Given the description of an element on the screen output the (x, y) to click on. 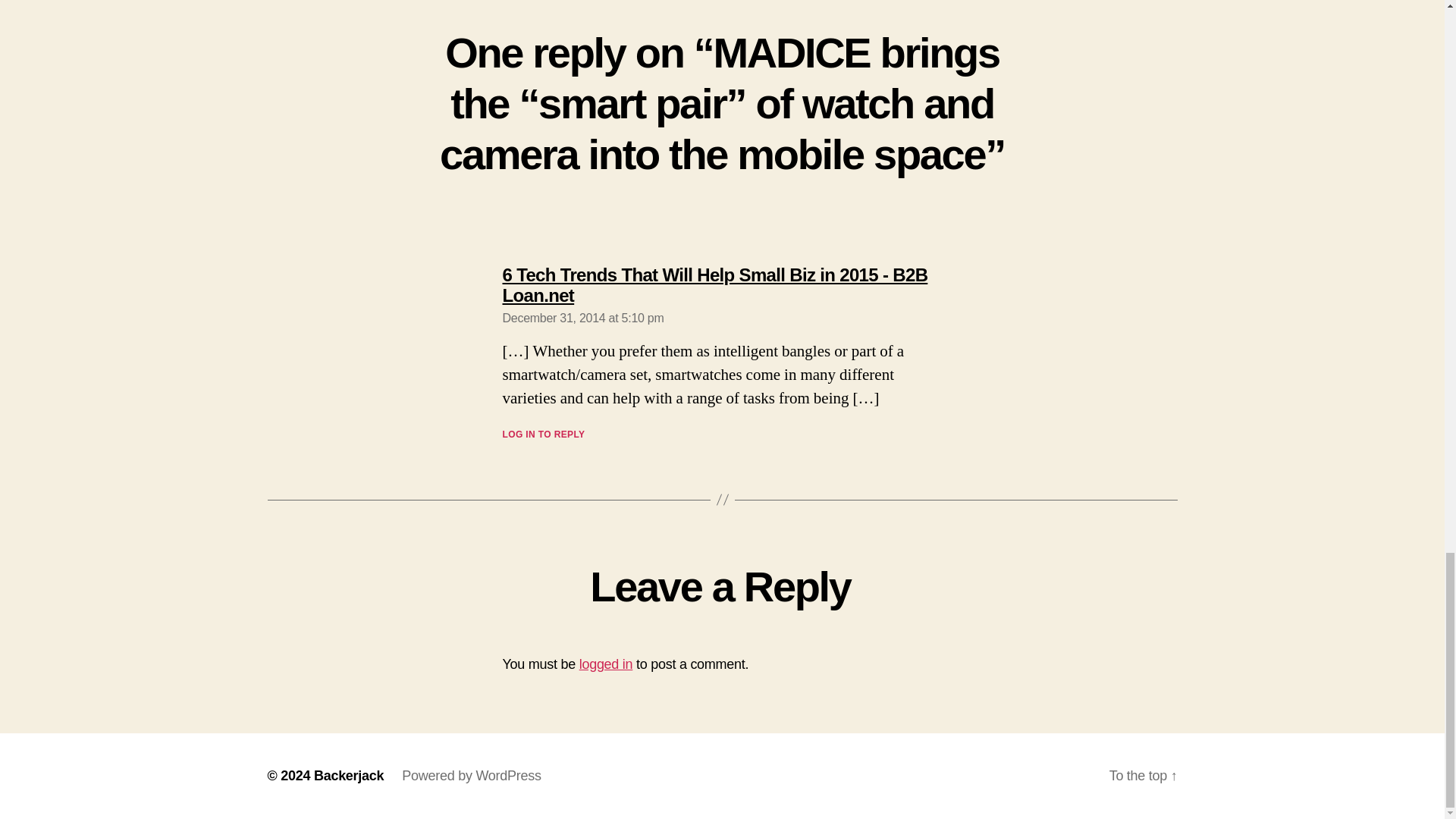
December 31, 2014 at 5:10 pm (582, 318)
LOG IN TO REPLY (543, 434)
December 31, 2014 at 5:10 pm (582, 318)
logged in (606, 663)
Backerjack (349, 775)
Powered by WordPress (470, 775)
